Given the description of an element on the screen output the (x, y) to click on. 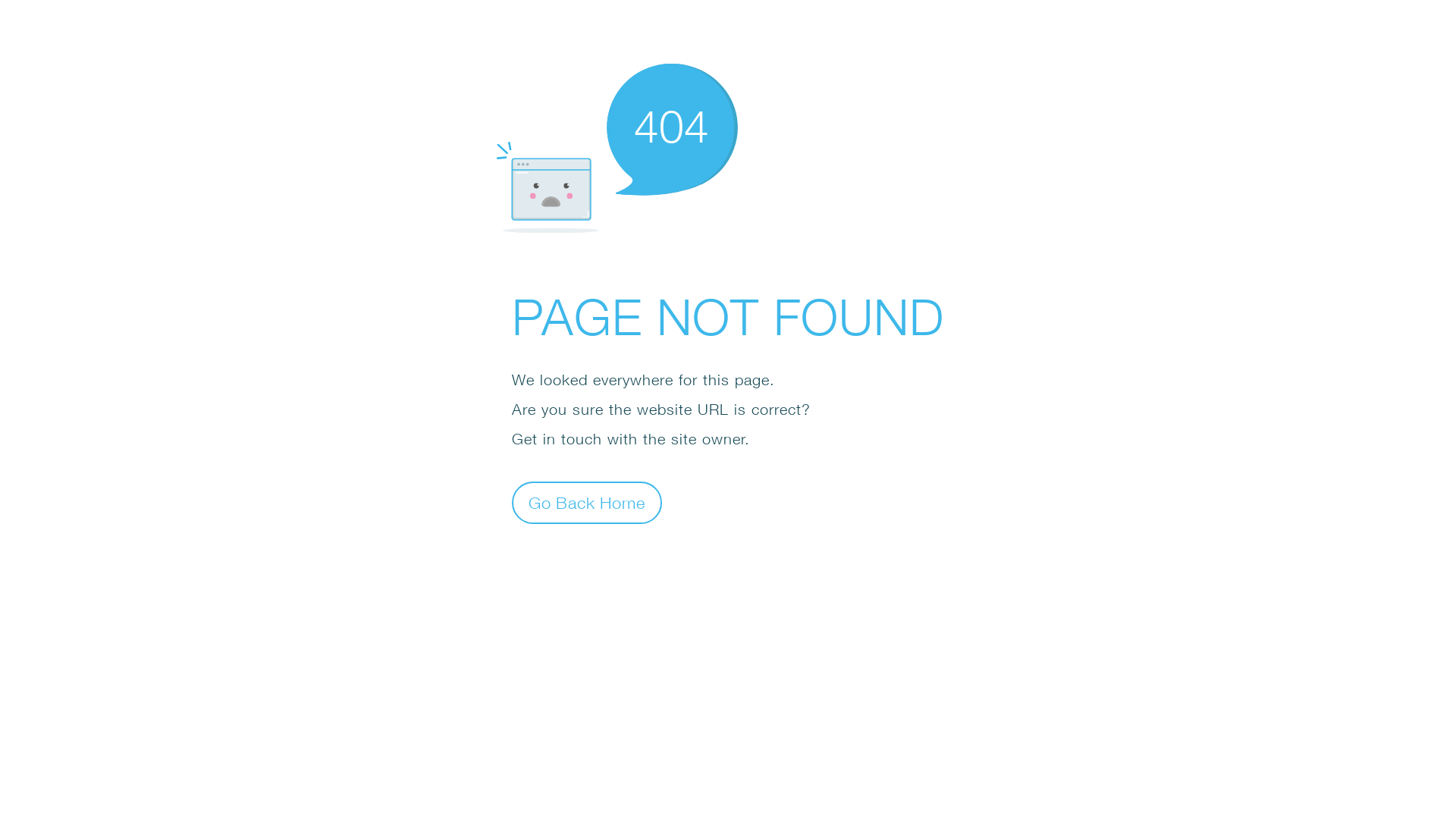
Go Back Home Element type: text (586, 502)
